Given the description of an element on the screen output the (x, y) to click on. 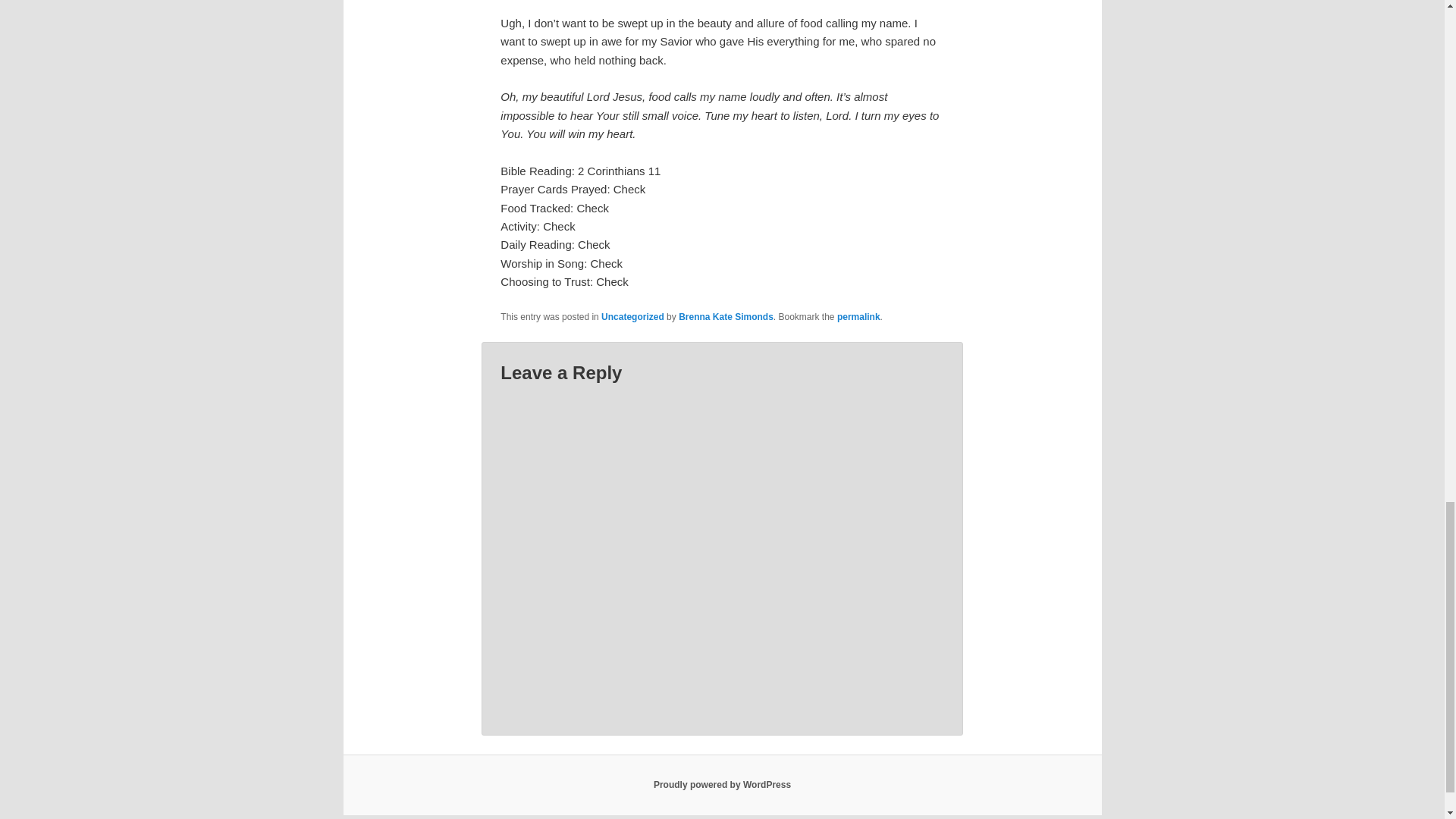
Permalink to Day 41: Awe for Jesus (858, 317)
permalink (858, 317)
Proudly powered by WordPress (721, 784)
Uncategorized (632, 317)
Brenna Kate Simonds (725, 317)
Semantic Personal Publishing Platform (721, 784)
